Given the description of an element on the screen output the (x, y) to click on. 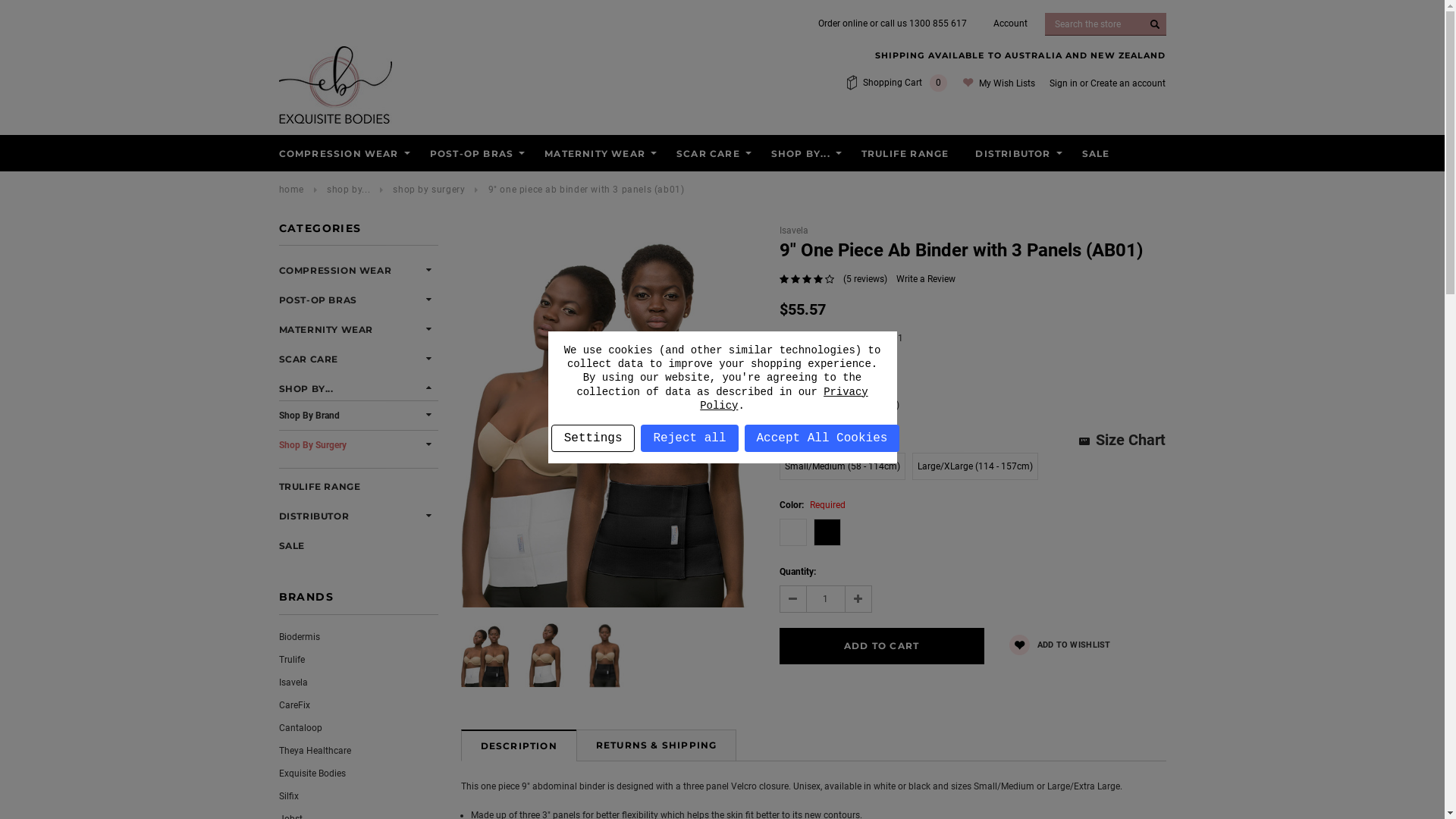
POST-OP BRAS Element type: text (471, 154)
9" One Piece Ab Binder with 3 Panels Element type: hover (605, 414)
(5 reviews) Element type: text (865, 278)
SHOP BY... Element type: text (306, 389)
9" One Piece Ab Binder with 3 Panels Element type: hover (604, 654)
Settings Element type: text (593, 437)
Size Chart Element type: text (1122, 439)
Black Element type: hover (826, 532)
Biodermis Element type: text (299, 636)
Create an account Element type: text (1127, 82)
Add to Cart Element type: text (881, 645)
Shopping Cart0 Element type: text (896, 82)
DISTRIBUTOR Element type: text (1012, 154)
Exquisite Bodies Element type: text (312, 773)
ADD TO WISHLIST Element type: text (1059, 645)
TRULIFE RANGE Element type: text (905, 154)
Cantaloop Element type: text (300, 727)
Shop By Brand Element type: text (309, 415)
Accept All Cookies Element type: text (822, 437)
My Wish Lists Element type: text (998, 82)
TRULIFE RANGE Element type: text (319, 487)
DISTRIBUTOR Element type: text (314, 516)
Decrease Quantity: Element type: text (792, 598)
shop by surgery Element type: text (428, 189)
9" one piece ab binder with 3 panels (ab01) Element type: text (586, 189)
COMPRESSION WEAR Element type: text (335, 271)
POST-OP BRAS Element type: text (318, 300)
Increase Quantity: Element type: text (858, 598)
RETURNS & SHIPPING Element type: text (656, 745)
SHOP BY... Element type: text (800, 154)
Account Element type: text (1010, 23)
9" One Piece Ab Binder with 3 Panels Element type: hover (544, 654)
SCAR CARE Element type: text (708, 154)
Isavela Element type: text (793, 230)
MATERNITY WEAR Element type: text (594, 154)
home Element type: text (291, 189)
MATERNITY WEAR Element type: text (326, 330)
Reject all Element type: text (688, 437)
SALE Element type: text (291, 546)
Write a Review Element type: text (925, 278)
SALE Element type: text (1096, 154)
Trulife Element type: text (291, 659)
9" One Piece Ab Binder with 3 Panels Element type: hover (485, 654)
SCAR CARE Element type: text (308, 359)
1300 855 617 Element type: text (937, 23)
Privacy Policy Element type: text (783, 398)
CareFix Element type: text (294, 704)
shop by... Element type: text (348, 189)
Sign in Element type: text (1063, 82)
White Element type: hover (792, 532)
Exquisite Bodies Element type: hover (335, 84)
COMPRESSION WEAR Element type: text (338, 154)
Isavela Element type: text (293, 682)
Shop By Surgery Element type: text (312, 445)
Theya Healthcare Element type: text (315, 750)
Silfix Element type: text (288, 795)
DESCRIPTION Element type: text (519, 745)
